Given the description of an element on the screen output the (x, y) to click on. 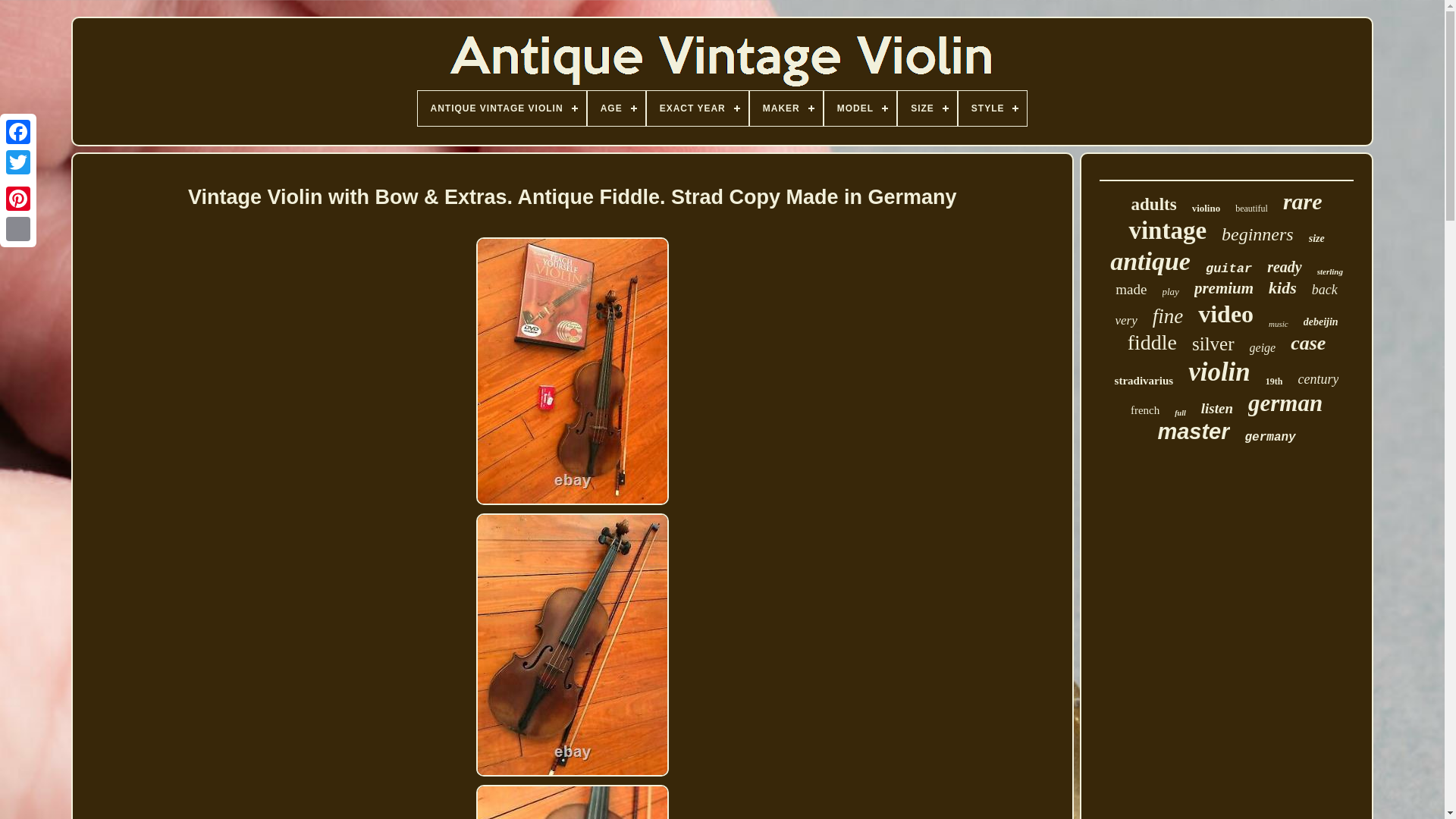
AGE (616, 108)
MAKER (785, 108)
EXACT YEAR (697, 108)
ANTIQUE VINTAGE VIOLIN (500, 108)
